Given the description of an element on the screen output the (x, y) to click on. 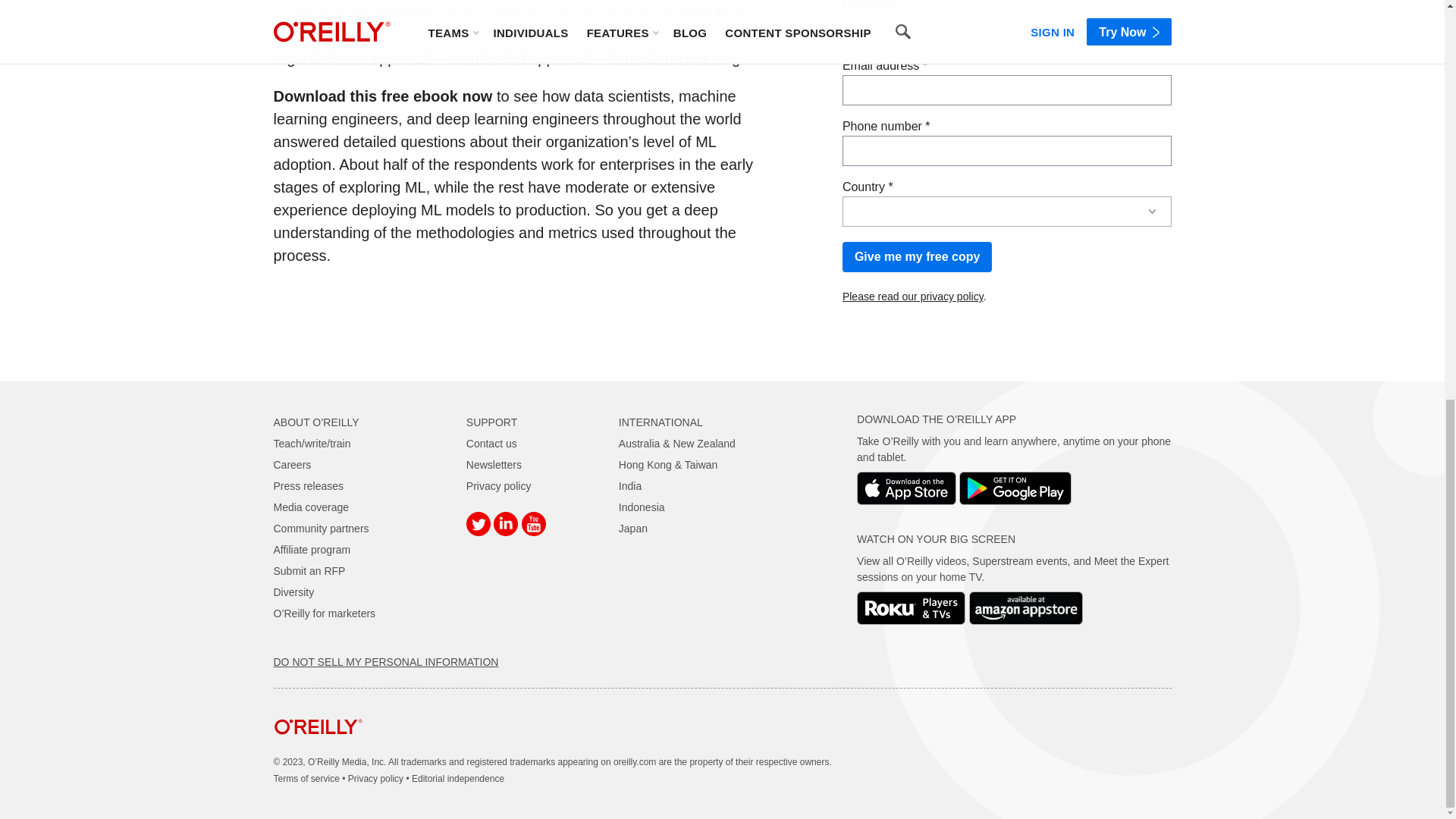
Media coverage (311, 507)
SUPPORT (490, 422)
Diversity (293, 592)
Contact us (490, 443)
Affiliate program (311, 549)
Give me my free copy (917, 256)
Give me my free copy (917, 256)
Please read our privacy policy (913, 296)
Press releases (308, 485)
Community partners (320, 528)
